Given the description of an element on the screen output the (x, y) to click on. 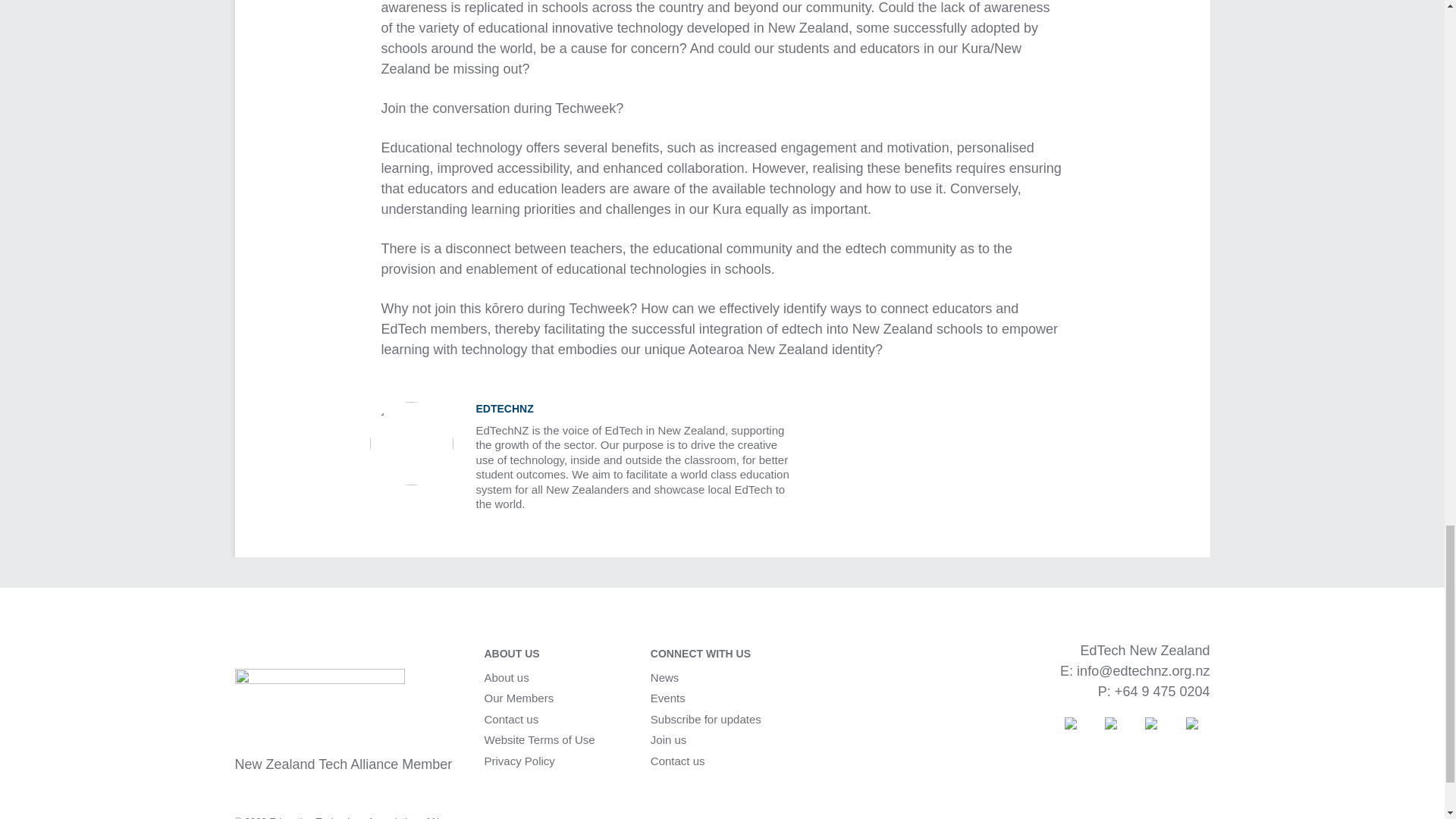
About us (505, 677)
Our Members (518, 697)
